Given the description of an element on the screen output the (x, y) to click on. 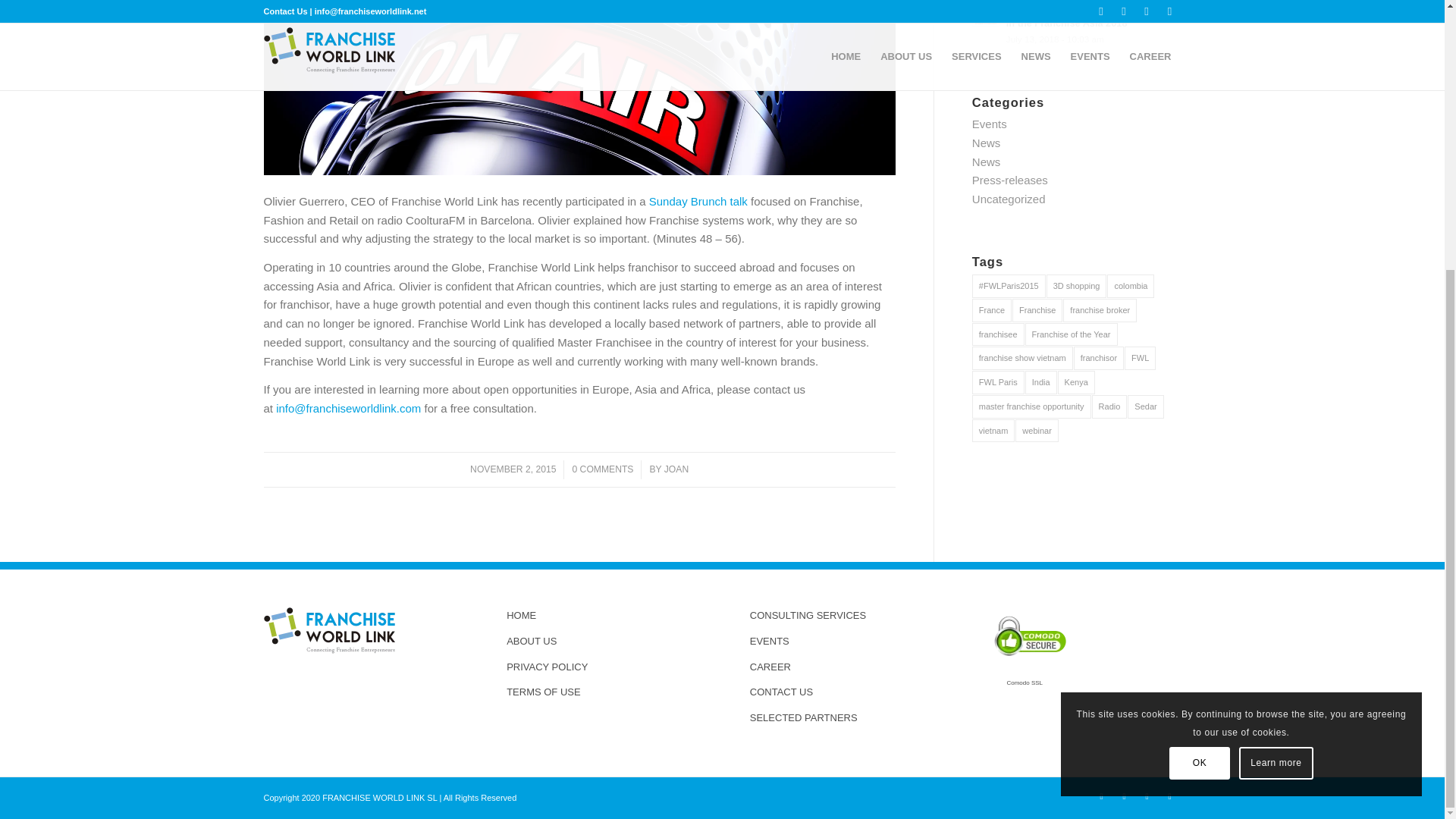
Press-releases (1010, 179)
3D shopping (1076, 286)
News (986, 161)
Posts by Joan (675, 469)
Uncategorized (1008, 198)
0 COMMENTS (602, 469)
JOAN (675, 469)
Events (989, 123)
Sunday Brunch talk (698, 201)
News (986, 142)
